Given the description of an element on the screen output the (x, y) to click on. 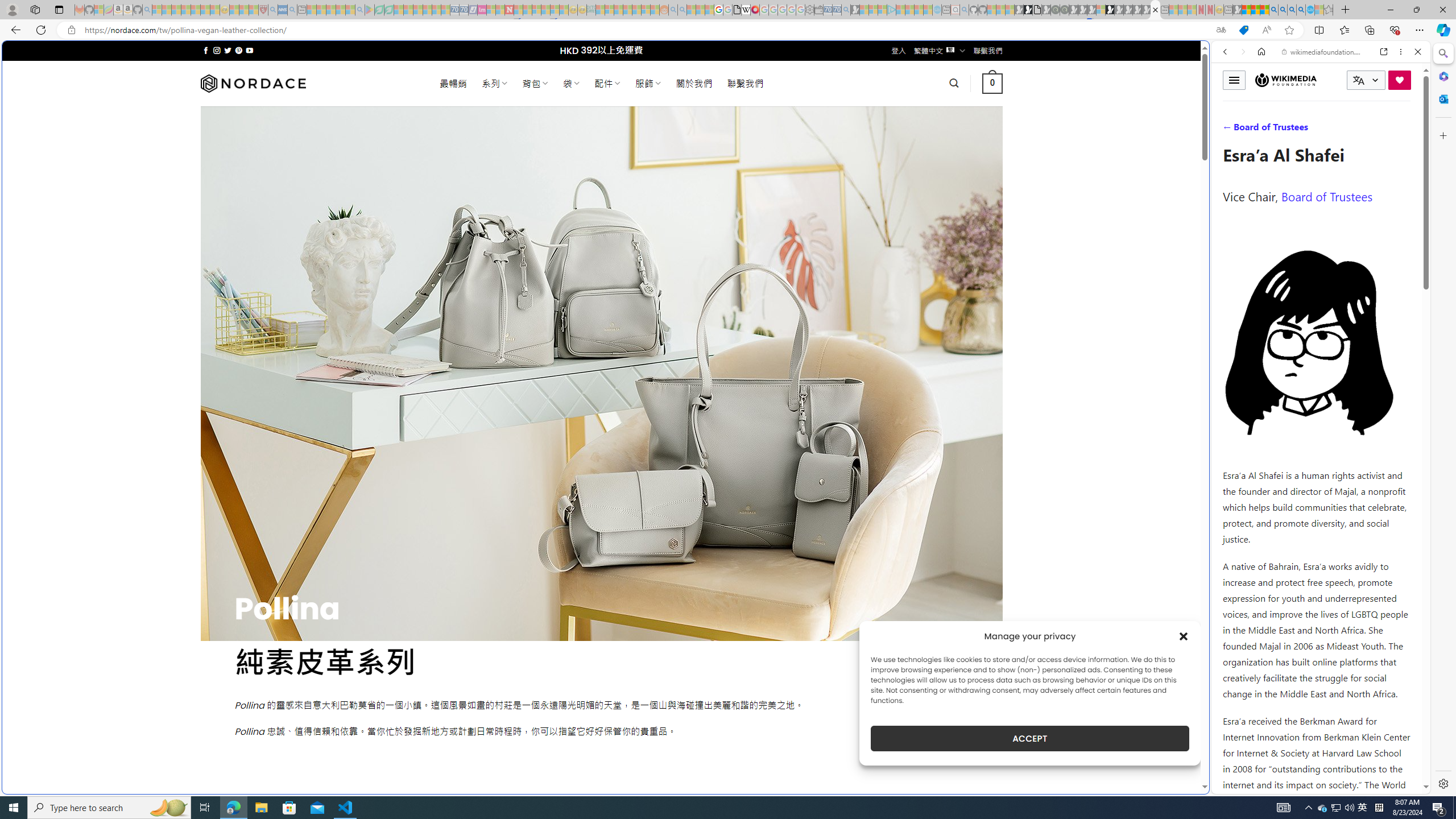
Read aloud this page (Ctrl+Shift+U) (1266, 29)
Global web icon (1232, 786)
Target page - Wikipedia (745, 9)
Microsoft account | Privacy - Sleeping (882, 9)
New Tab (1346, 9)
Tab actions menu (58, 9)
Personal Profile (12, 9)
Frequently visited (965, 151)
Search the web (1326, 78)
